Given the description of an element on the screen output the (x, y) to click on. 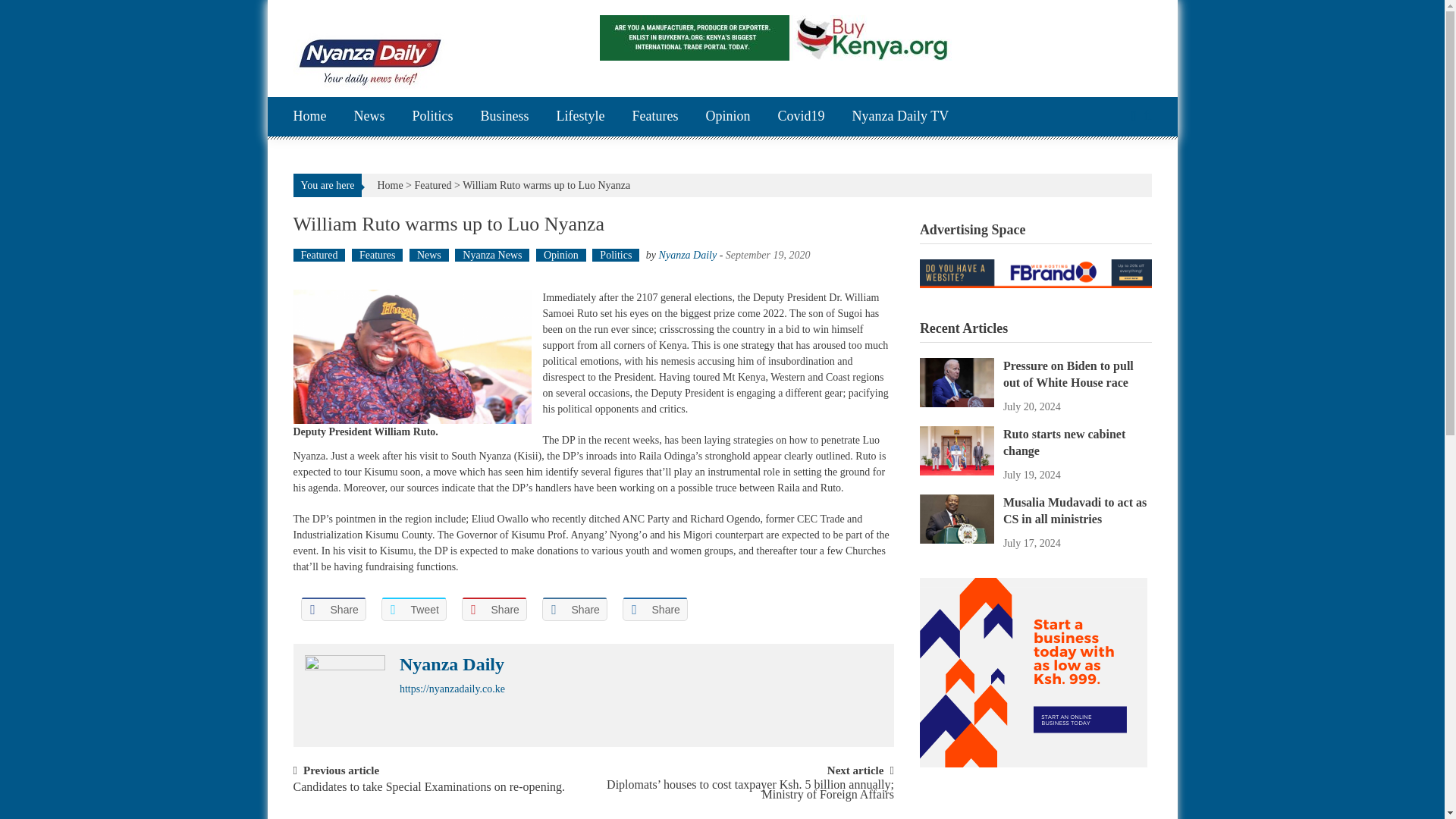
Features (377, 254)
Opinion (560, 254)
Share (332, 608)
News (428, 254)
Share on Facebook (332, 608)
Politics (432, 116)
Share (493, 608)
Candidates to take Special Examinations on re-opening. (428, 794)
News (368, 116)
Nyanza Daily (450, 664)
Opinion (726, 116)
Share on Digg (654, 608)
Tweet (412, 608)
Nyanza Daily (688, 255)
Share (574, 608)
